Given the description of an element on the screen output the (x, y) to click on. 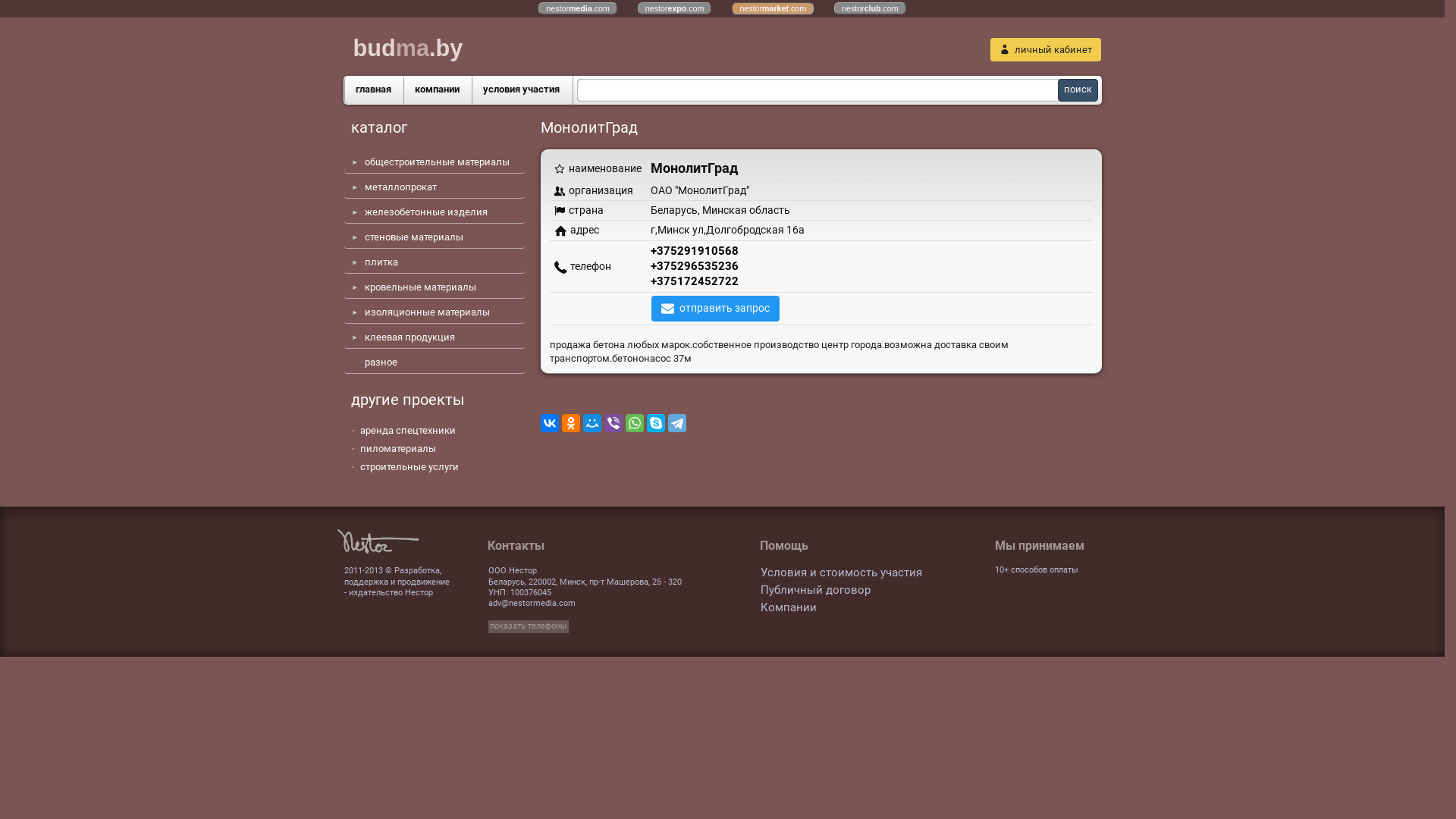
nestormarket.com Element type: text (772, 8)
+375296535236 Element type: text (694, 266)
nestormedia.com Element type: text (577, 8)
adv@nestormedia.com Element type: text (531, 603)
Viber Element type: hover (612, 423)
nestorexpo.com Element type: text (674, 8)
+375291910568 Element type: text (694, 250)
budma.by Element type: text (671, 47)
Skype Element type: hover (655, 423)
WhatsApp Element type: hover (633, 423)
Telegram Element type: hover (676, 423)
nestorclub.com Element type: text (870, 8)
+375172452722 Element type: text (694, 281)
